Given the description of an element on the screen output the (x, y) to click on. 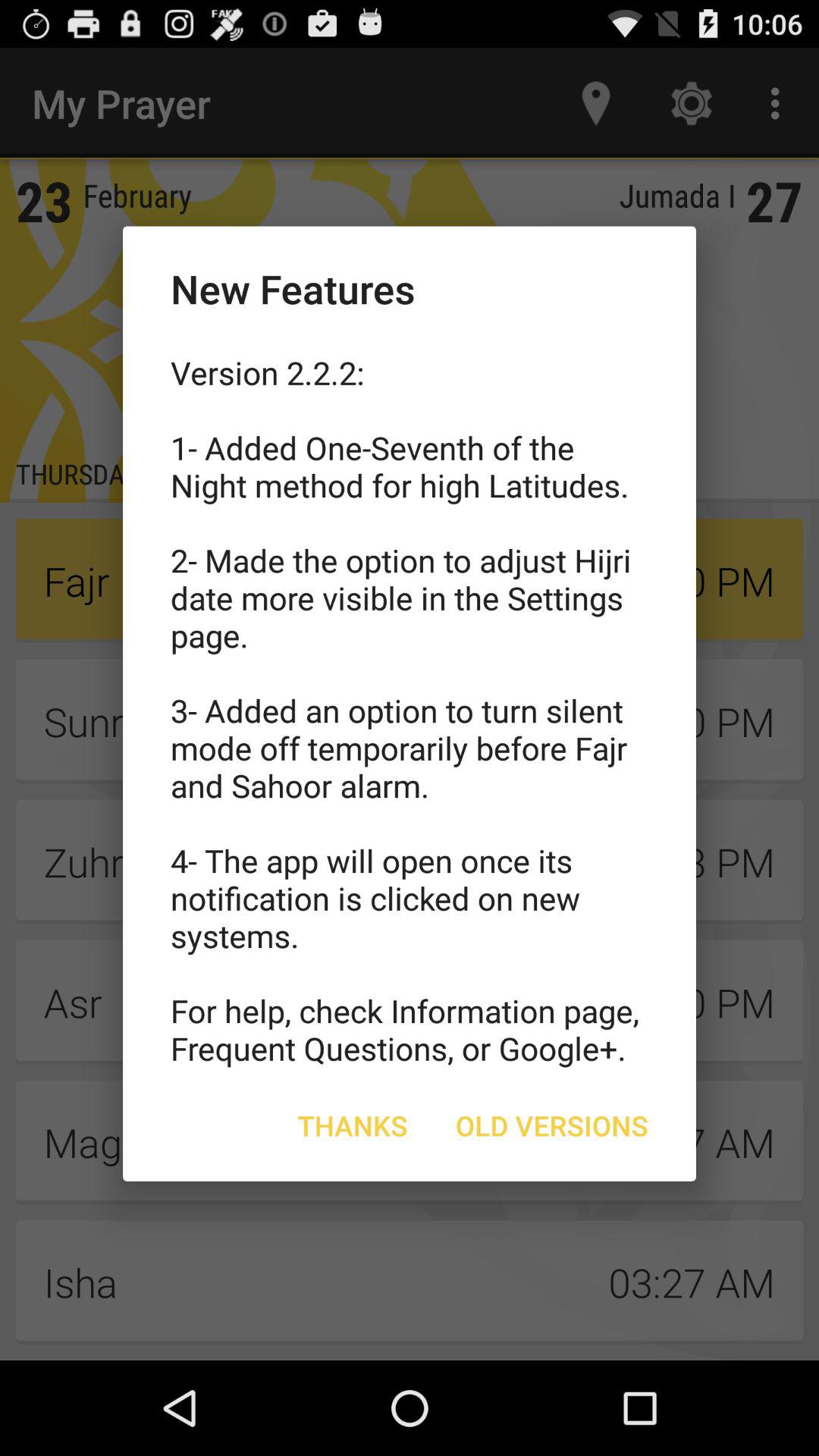
press the thanks button (352, 1125)
